Given the description of an element on the screen output the (x, y) to click on. 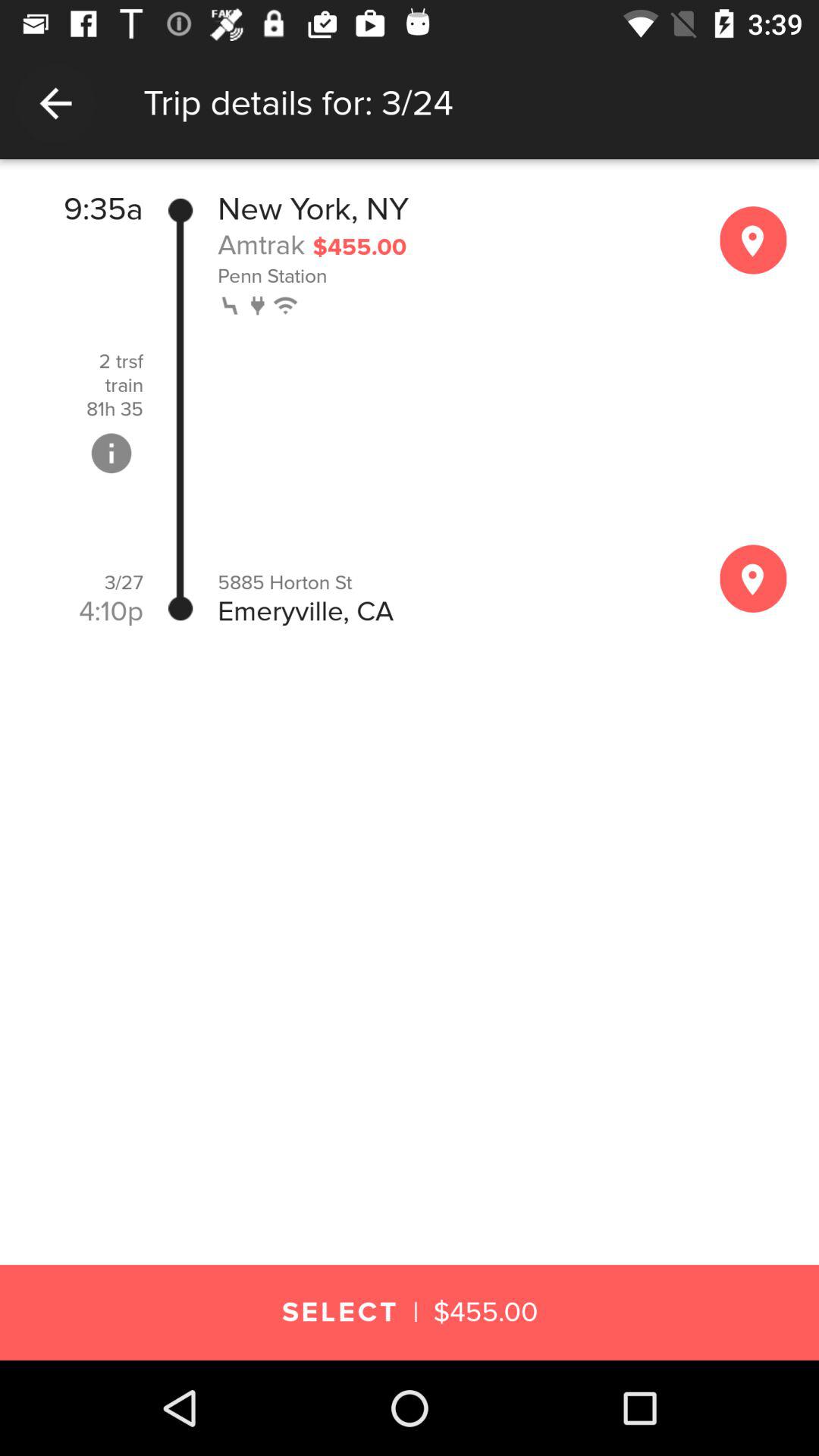
select this point on the map (753, 240)
